Given the description of an element on the screen output the (x, y) to click on. 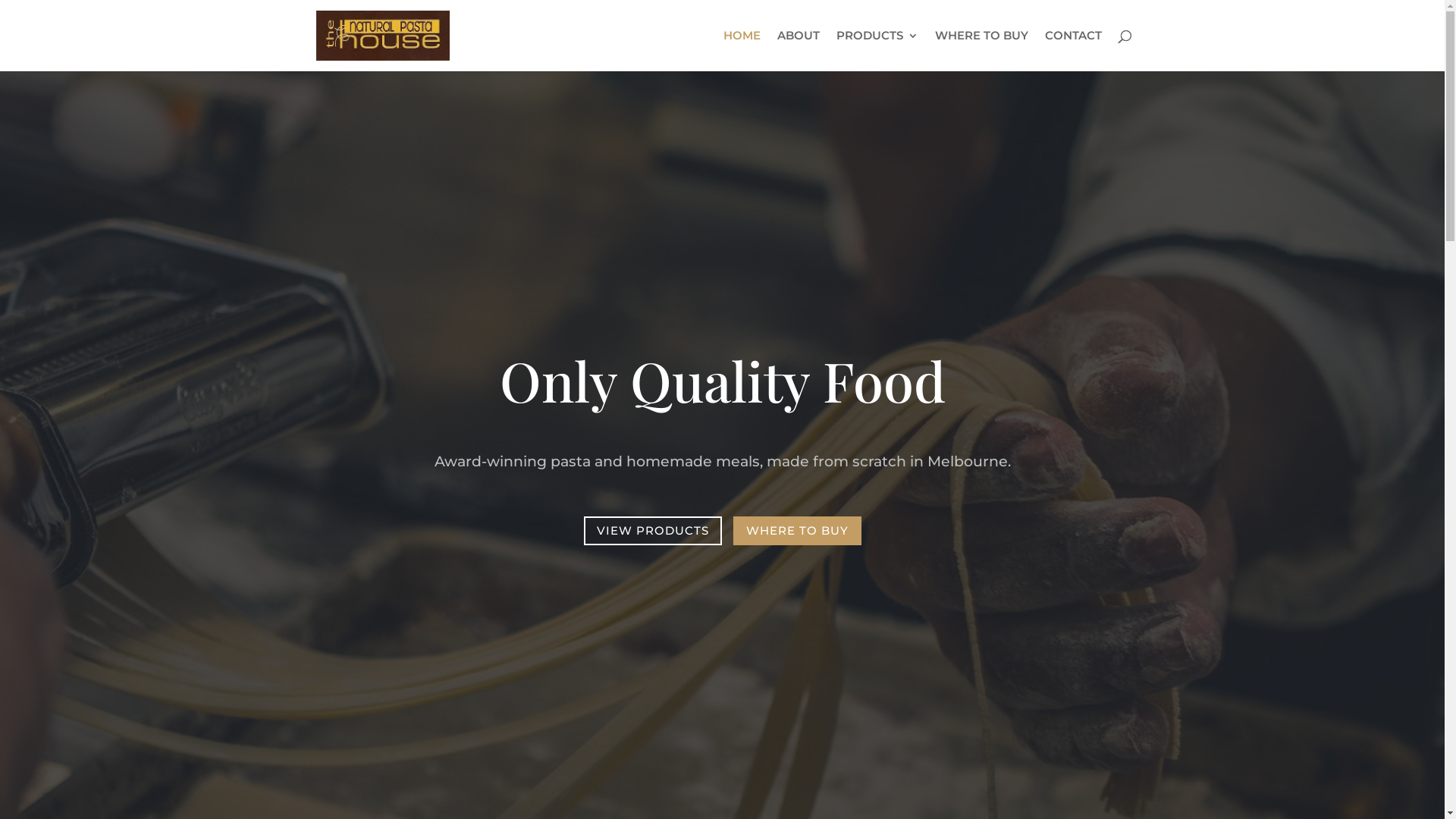
WHERE TO BUY Element type: text (796, 531)
ABOUT Element type: text (797, 50)
HOME Element type: text (741, 50)
CONTACT Element type: text (1072, 50)
VIEW PRODUCTS Element type: text (652, 531)
WHERE TO BUY Element type: text (980, 50)
PRODUCTS Element type: text (876, 50)
